Given the description of an element on the screen output the (x, y) to click on. 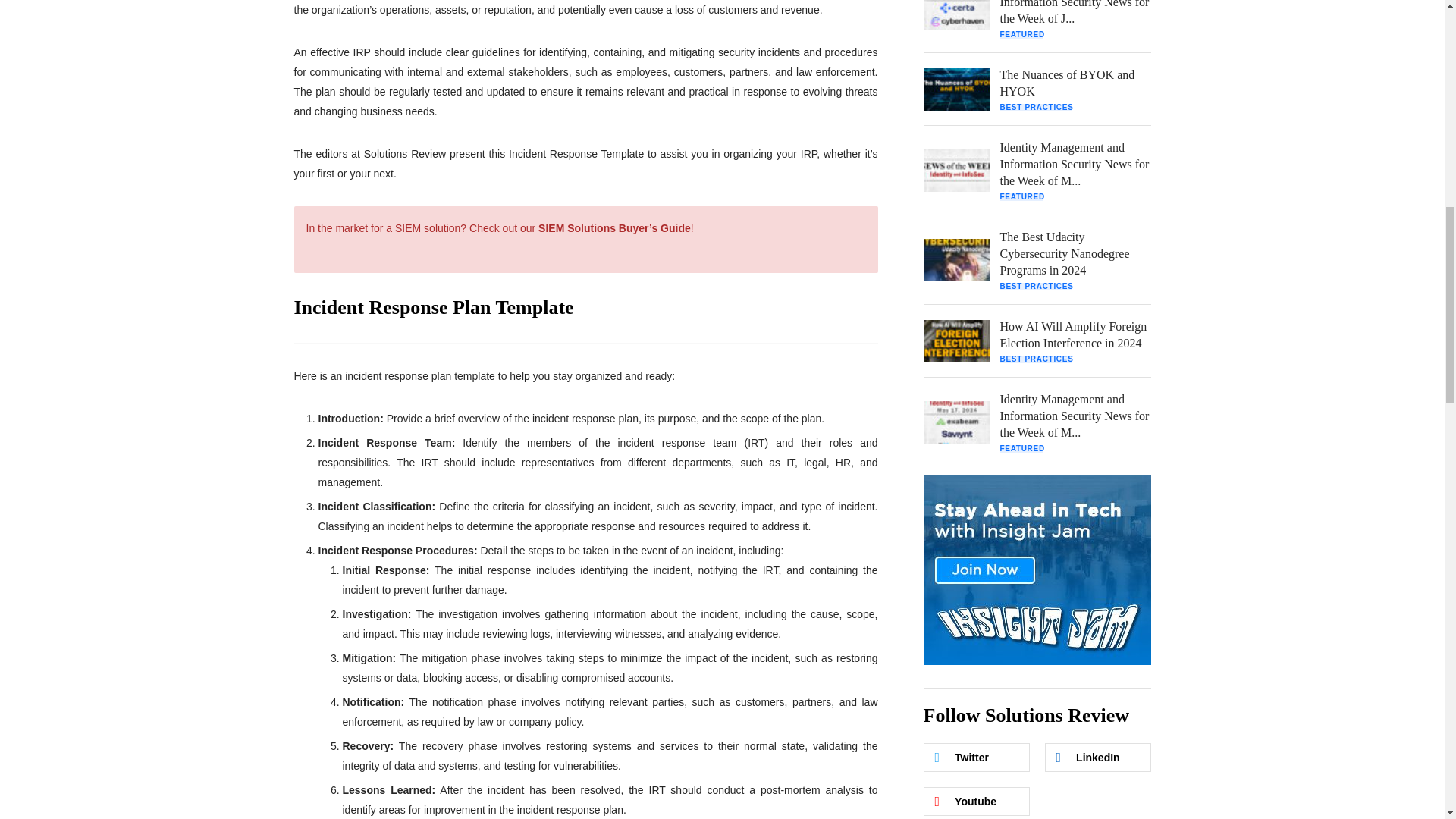
Insight Jam Ad (1037, 570)
